Given the description of an element on the screen output the (x, y) to click on. 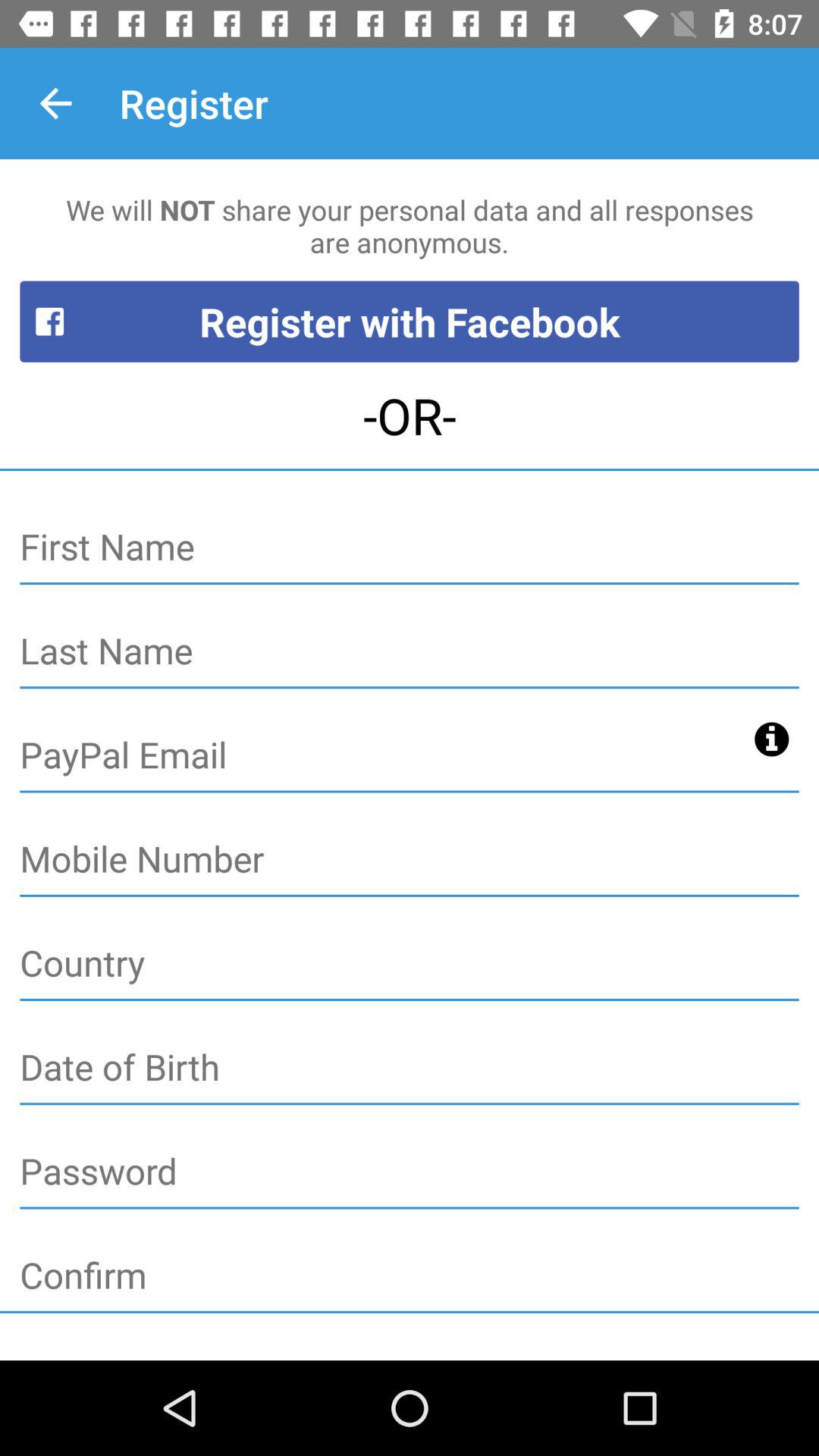
enter country (409, 964)
